Given the description of an element on the screen output the (x, y) to click on. 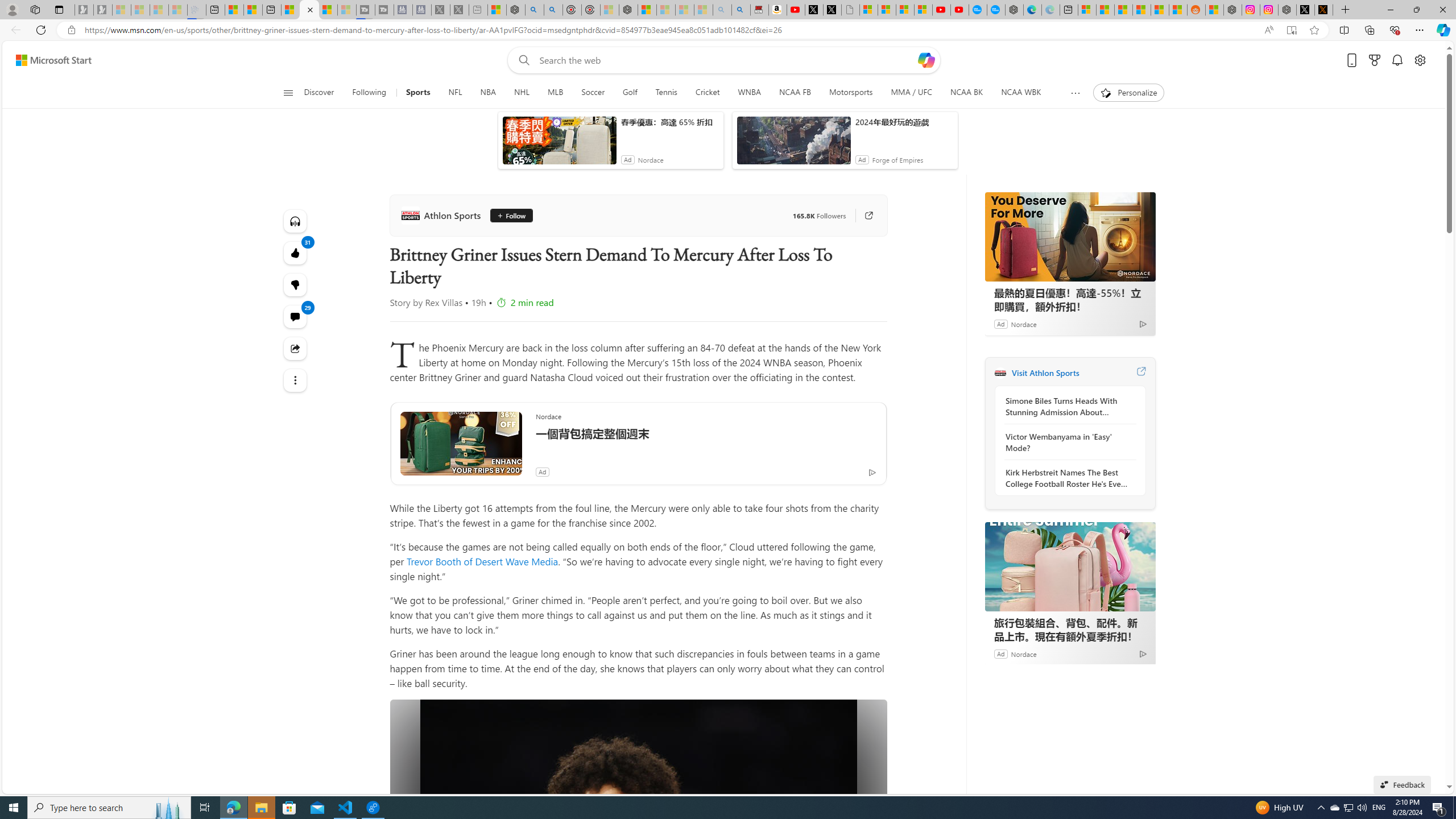
Golf (629, 92)
NBA (487, 92)
NCAA FB (794, 92)
Visit Athlon Sports website (1140, 372)
Show more topics (1074, 92)
YouTube Kids - An App Created for Kids to Explore Content (960, 9)
Share this story (295, 348)
Motorsports (851, 92)
NHL (521, 92)
Read aloud this page (Ctrl+Shift+U) (1268, 29)
Notifications (1397, 60)
